Given the description of an element on the screen output the (x, y) to click on. 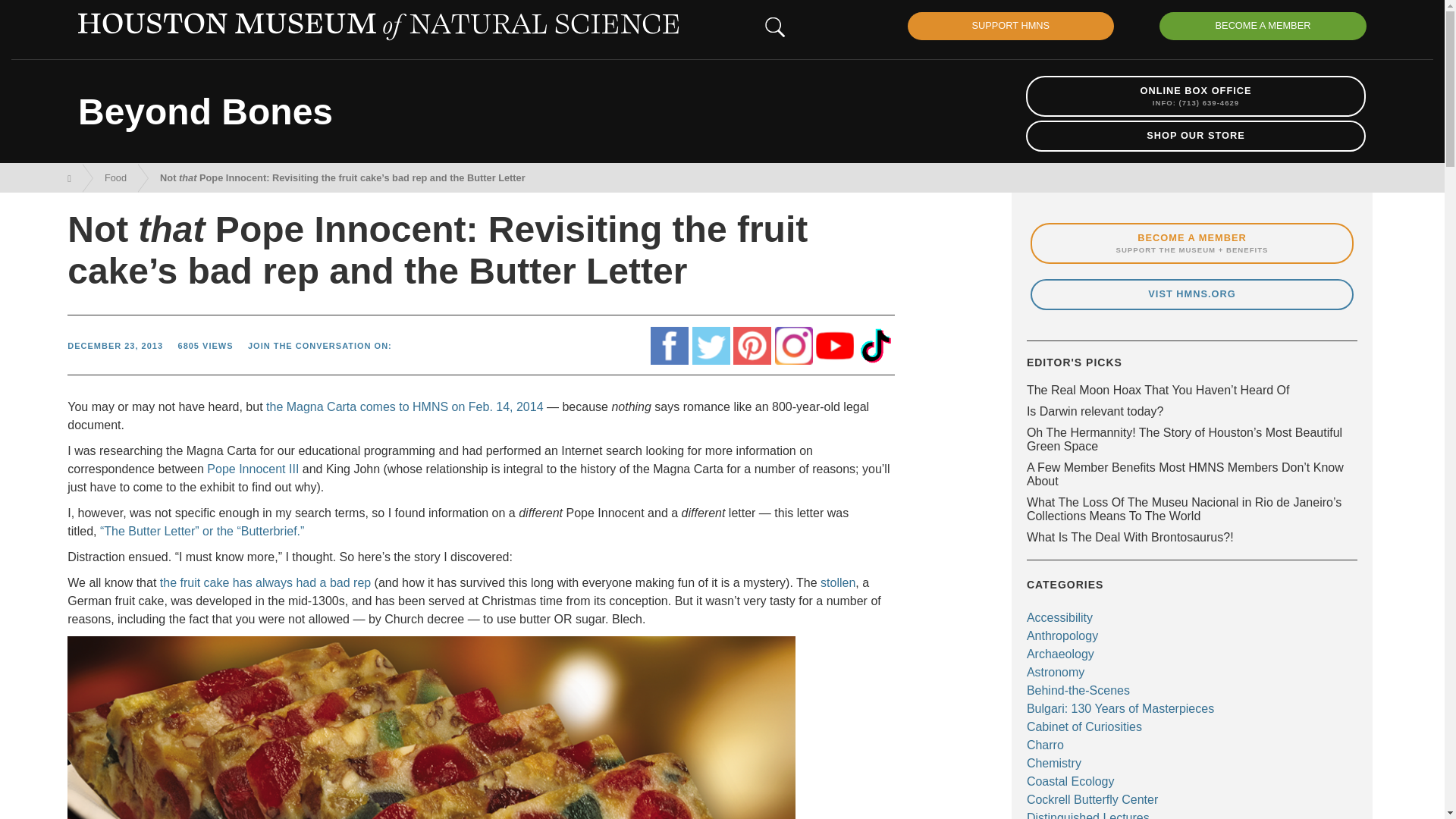
Food (115, 177)
BECOME A MEMBER (1261, 26)
SUPPORT HMNS (1010, 26)
Food (115, 177)
the Magna Carta comes to HMNS on Feb. 14, 2014 (404, 406)
the fruit cake has always had a bad rep (265, 582)
Is Darwin relevant today? (1191, 411)
Pope Innocent III (252, 468)
VIST HMNS.ORG (1192, 294)
What Is The Deal With Brontosaurus?! (1191, 537)
stollen (838, 582)
Beyond Bones (205, 111)
Home (68, 177)
SHOP OUR STORE (1196, 135)
Is Darwin relevant today? (1191, 411)
